Given the description of an element on the screen output the (x, y) to click on. 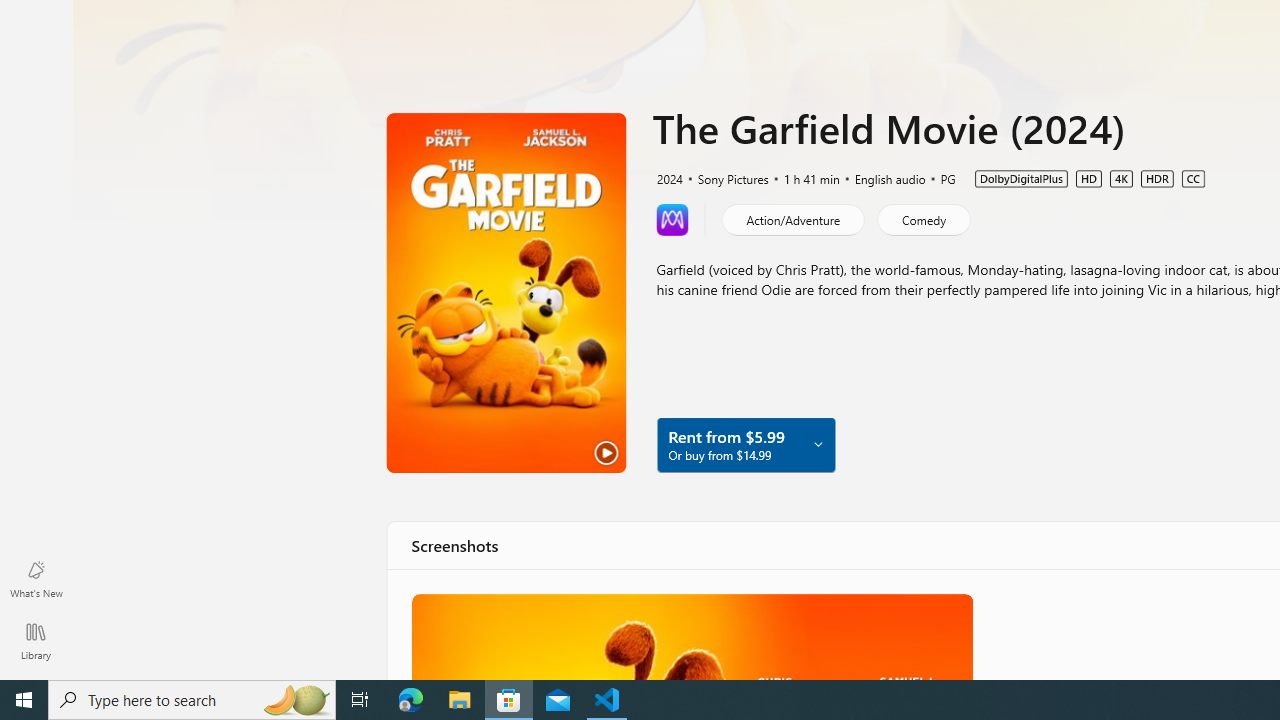
Play Trailer (505, 293)
PG (939, 178)
Action/Adventure (792, 218)
English audio (881, 178)
Library (35, 640)
Sony Pictures (724, 178)
Class: Image (690, 636)
Learn more about Movies Anywhere (671, 218)
1 h 41 min (803, 178)
Class: ListViewItem (690, 636)
2024 (667, 178)
Comedy (923, 218)
Rent from $5.99 Or buy from $14.99 (745, 444)
What's New (35, 578)
